Given the description of an element on the screen output the (x, y) to click on. 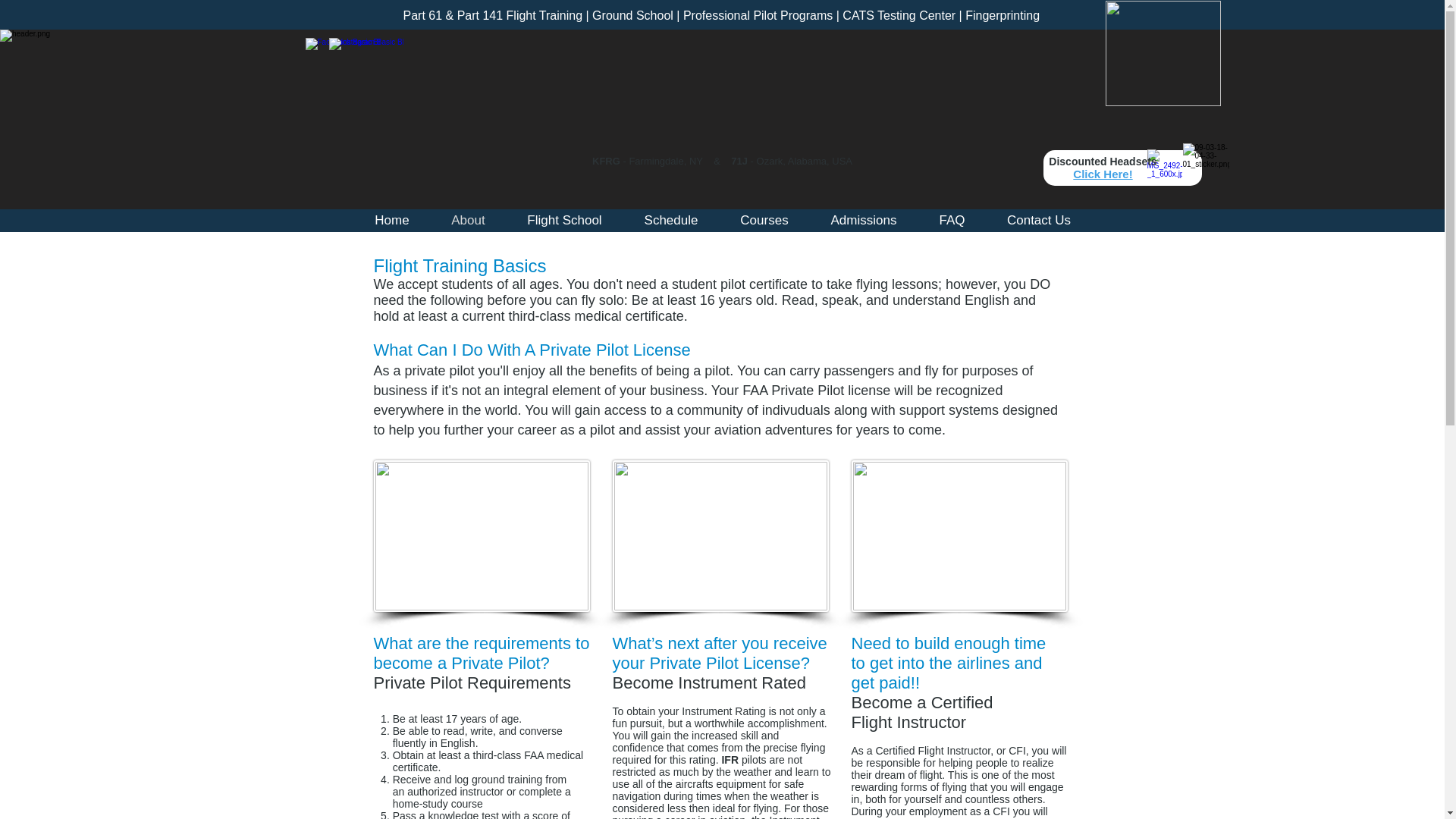
141.png (1163, 53)
Courses (764, 220)
Click Here! (1102, 173)
Home (391, 220)
About (468, 220)
Contact Us (1037, 220)
Admissions (863, 220)
FAQ (951, 220)
Schedule (671, 220)
Flight School (564, 220)
